Given the description of an element on the screen output the (x, y) to click on. 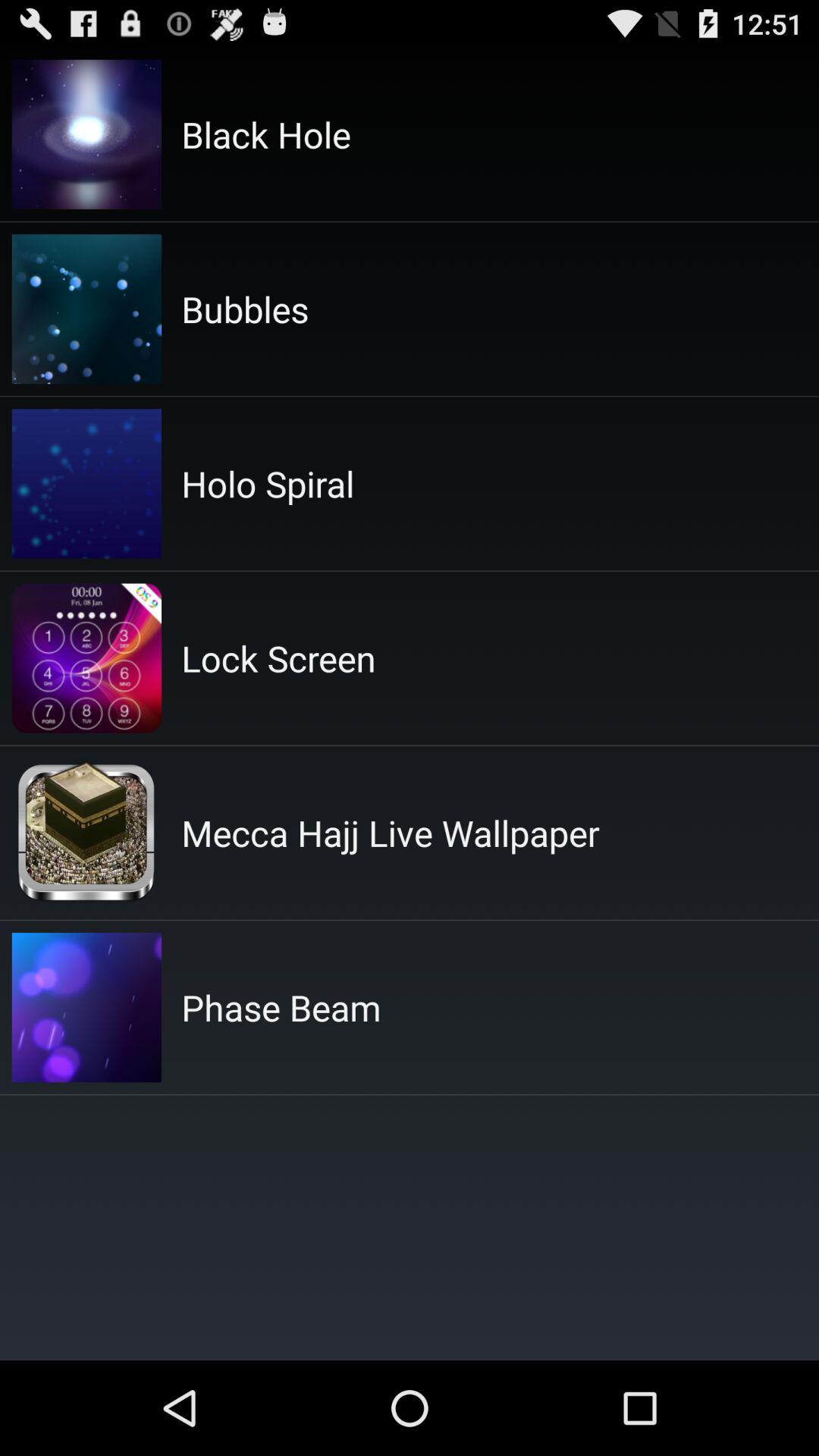
jump to the bubbles app (244, 308)
